Given the description of an element on the screen output the (x, y) to click on. 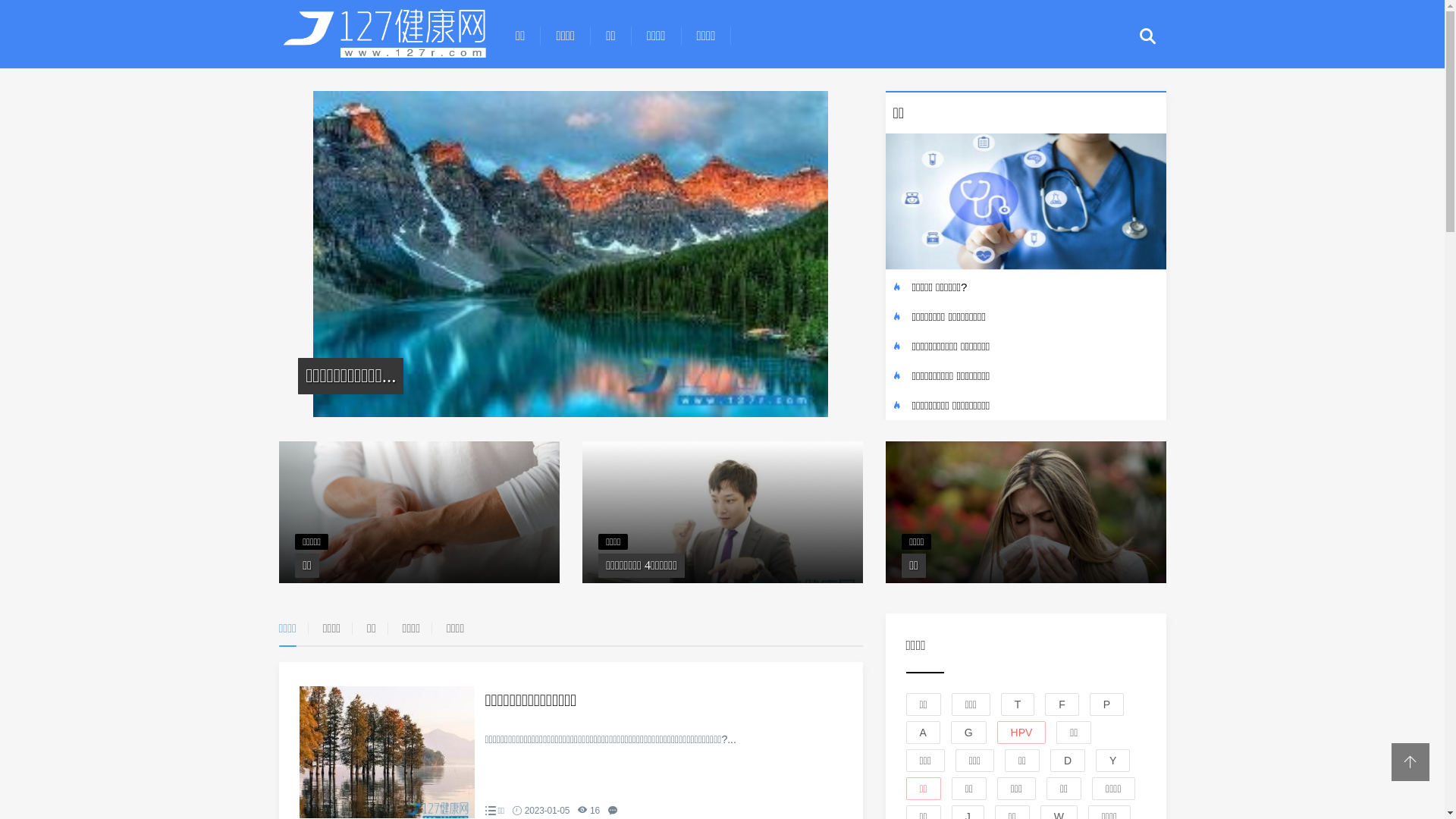
T Element type: text (1018, 704)
D Element type: text (1067, 760)
A Element type: text (922, 731)
Y Element type: text (1112, 760)
HPV Element type: text (1021, 731)
G Element type: text (968, 731)
F Element type: text (1061, 704)
P Element type: text (1106, 704)
